Given the description of an element on the screen output the (x, y) to click on. 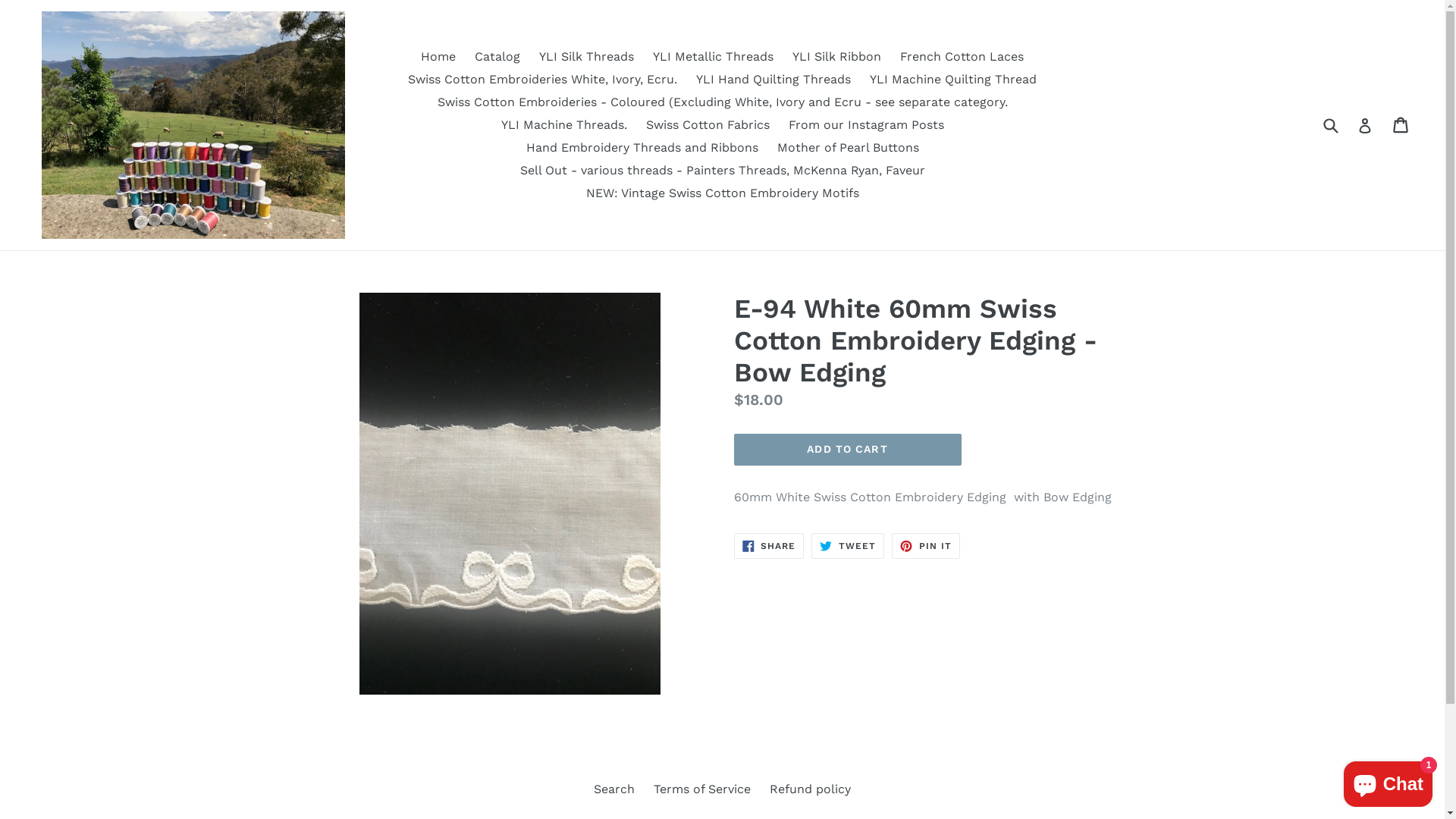
YLI Silk Threads Element type: text (586, 56)
Terms of Service Element type: text (701, 788)
Hand Embroidery Threads and Ribbons Element type: text (641, 147)
Refund policy Element type: text (809, 788)
Shopify online store chat Element type: hover (1388, 780)
Home Element type: text (438, 56)
Swiss Cotton Fabrics Element type: text (707, 124)
YLI Silk Ribbon Element type: text (836, 56)
Cart
Cart Element type: text (1401, 124)
PIN IT
PIN ON PINTEREST Element type: text (925, 545)
NEW: Vintage Swiss Cotton Embroidery Motifs Element type: text (721, 193)
TWEET
TWEET ON TWITTER Element type: text (847, 545)
YLI Metallic Threads Element type: text (713, 56)
French Cotton Laces Element type: text (961, 56)
SHARE
SHARE ON FACEBOOK Element type: text (769, 545)
From our Instagram Posts Element type: text (866, 124)
YLI Hand Quilting Threads Element type: text (773, 79)
Swiss Cotton Embroideries White, Ivory, Ecru. Element type: text (542, 79)
Catalog Element type: text (497, 56)
Submit Element type: text (1329, 124)
YLI Machine Quilting Thread Element type: text (953, 79)
ADD TO CART Element type: text (847, 449)
YLI Machine Threads. Element type: text (562, 124)
Log in Element type: text (1364, 124)
Search Element type: text (613, 788)
Mother of Pearl Buttons Element type: text (846, 147)
